Given the description of an element on the screen output the (x, y) to click on. 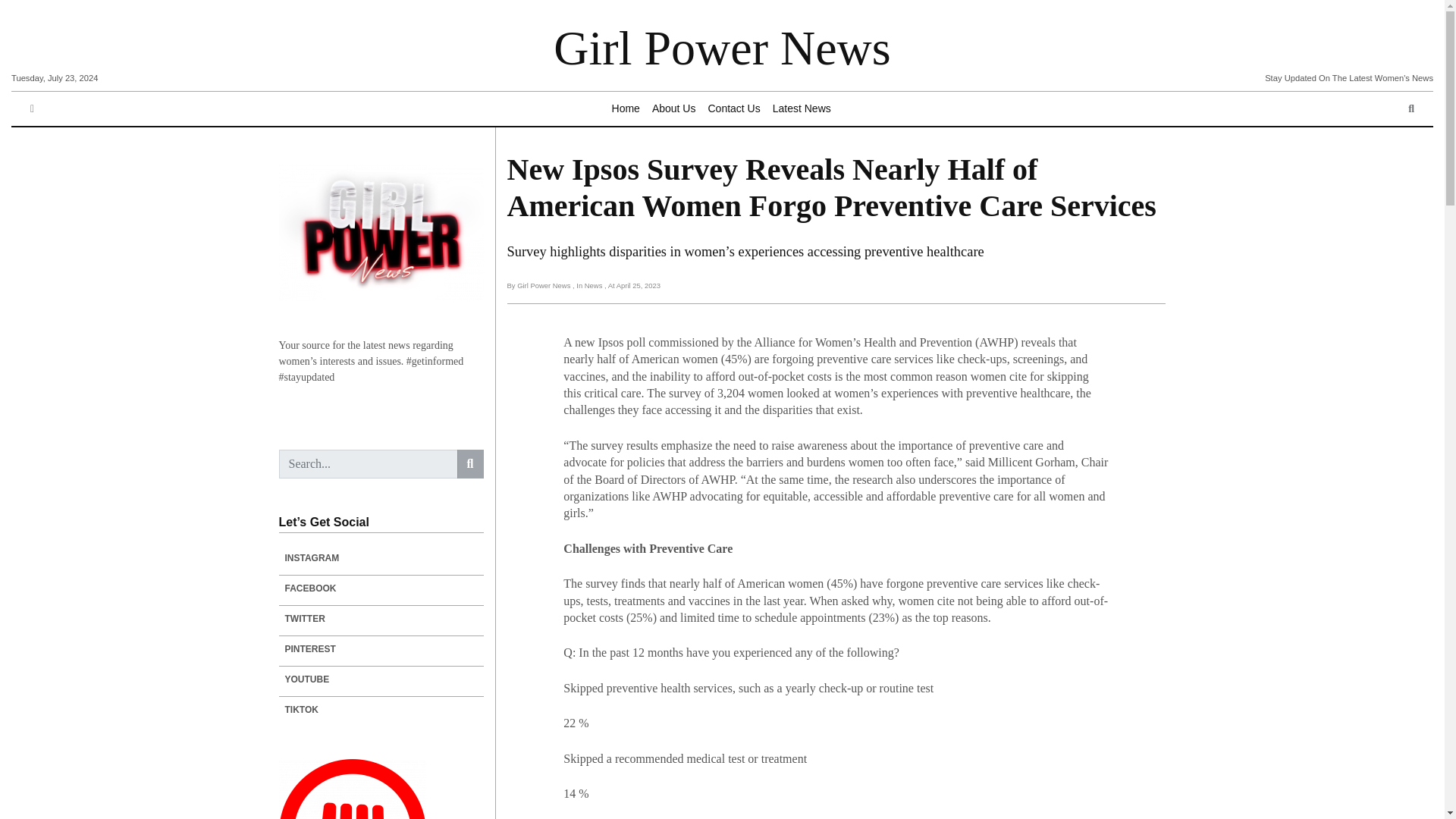
Latest News (802, 108)
Contact Us (733, 108)
YOUTUBE (381, 679)
TWITTER (381, 618)
Girl Power News (721, 48)
Latest News (802, 108)
TIKTOK (381, 709)
About Us (673, 108)
INSTAGRAM (381, 557)
Home (625, 108)
PINTEREST (381, 648)
Home (625, 108)
About Us (673, 108)
Contact Us (733, 108)
FACEBOOK (381, 588)
